Given the description of an element on the screen output the (x, y) to click on. 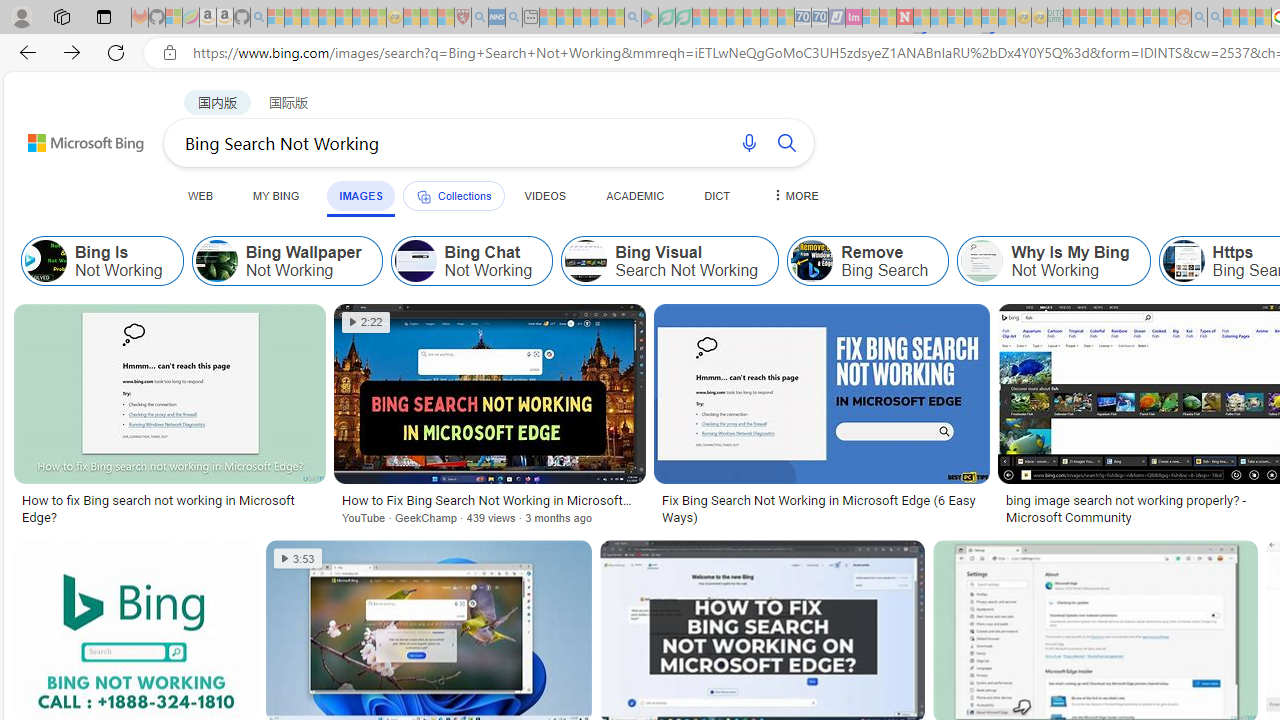
Class: item col (1053, 260)
VIDEOS (545, 195)
Bluey: Let's Play! - Apps on Google Play - Sleeping (649, 17)
